Given the description of an element on the screen output the (x, y) to click on. 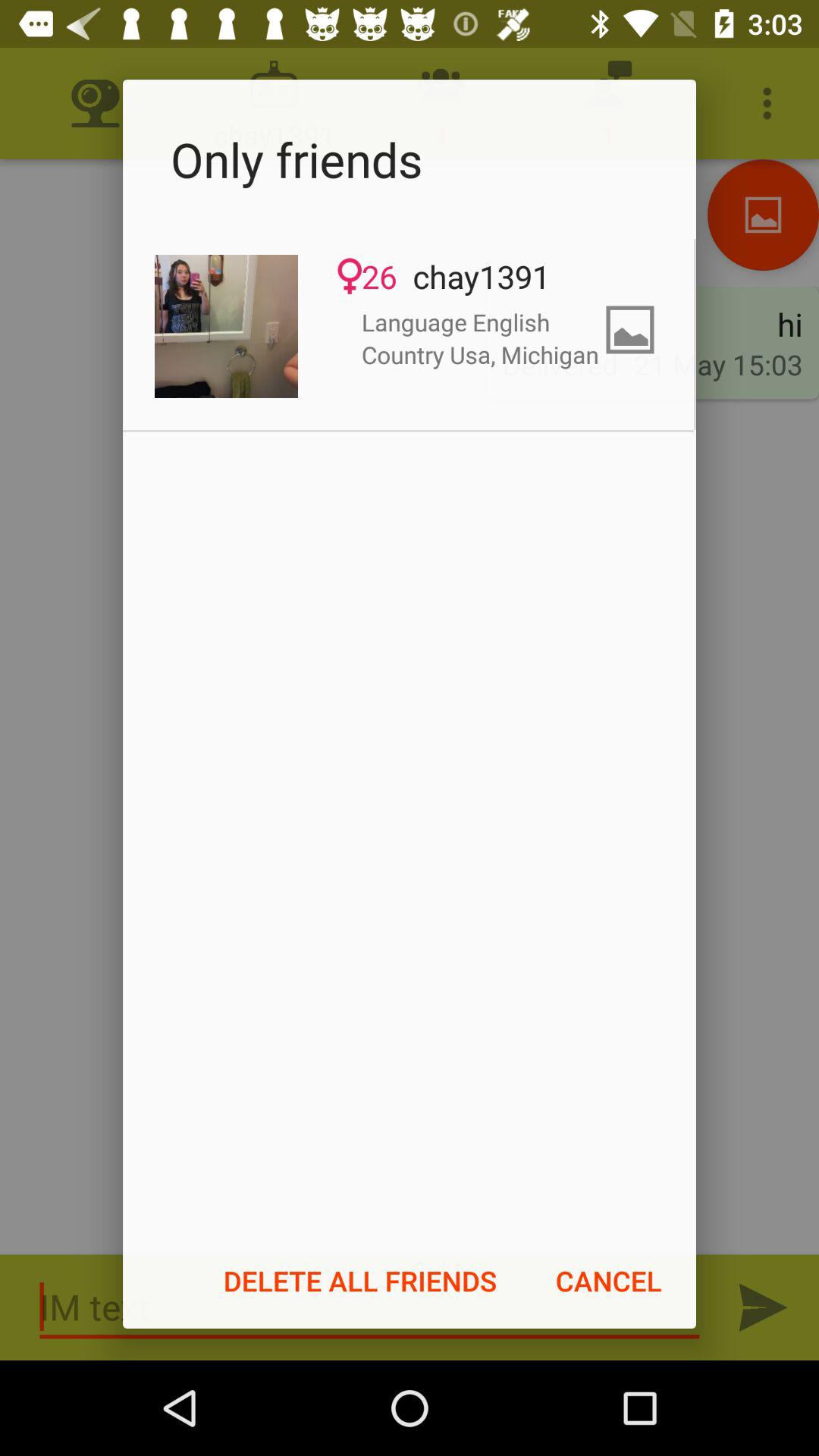
swipe to the delete all friends (359, 1280)
